Given the description of an element on the screen output the (x, y) to click on. 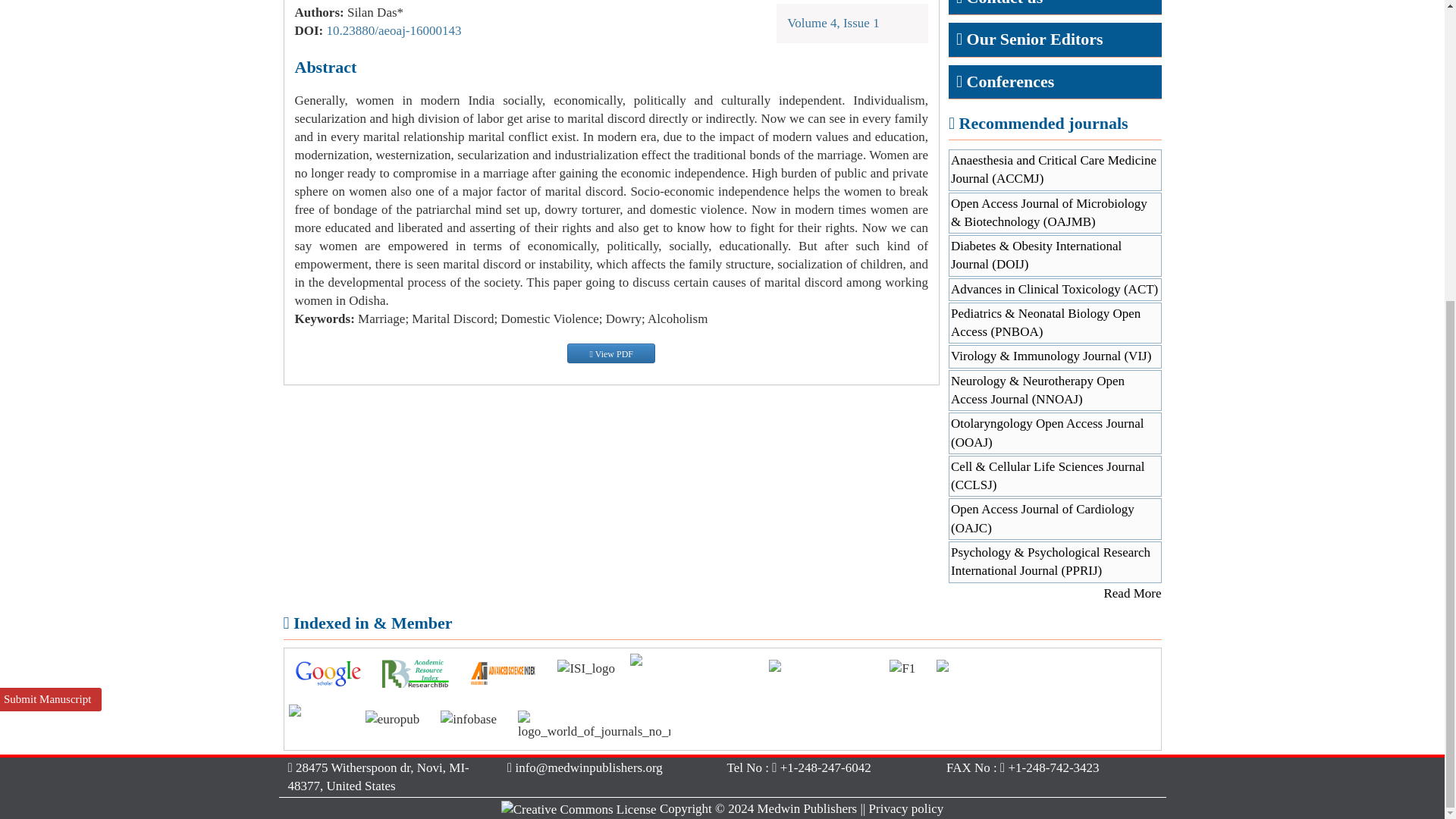
Click here to view Editors (1004, 3)
Click here to view Conferences (1010, 81)
Click here to view Editors (1034, 38)
